Given the description of an element on the screen output the (x, y) to click on. 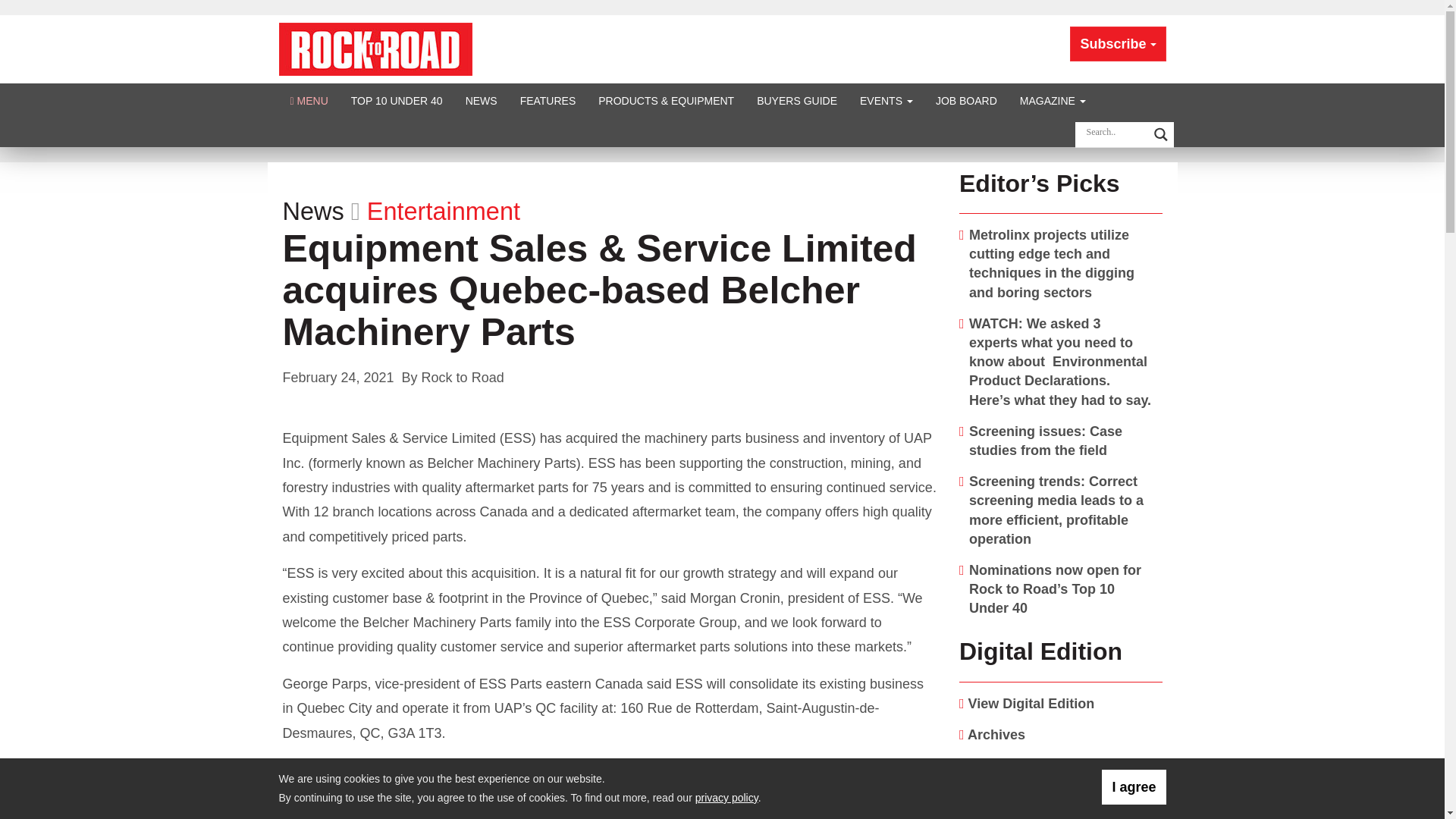
JOB BOARD (966, 100)
TOP 10 UNDER 40 (396, 100)
FEATURES (548, 100)
MENU (309, 100)
Subscribe (1118, 43)
BUYERS GUIDE (796, 100)
EVENTS (886, 100)
Click to show site navigation (309, 100)
NEWS (481, 100)
Rock to Road (375, 48)
